Given the description of an element on the screen output the (x, y) to click on. 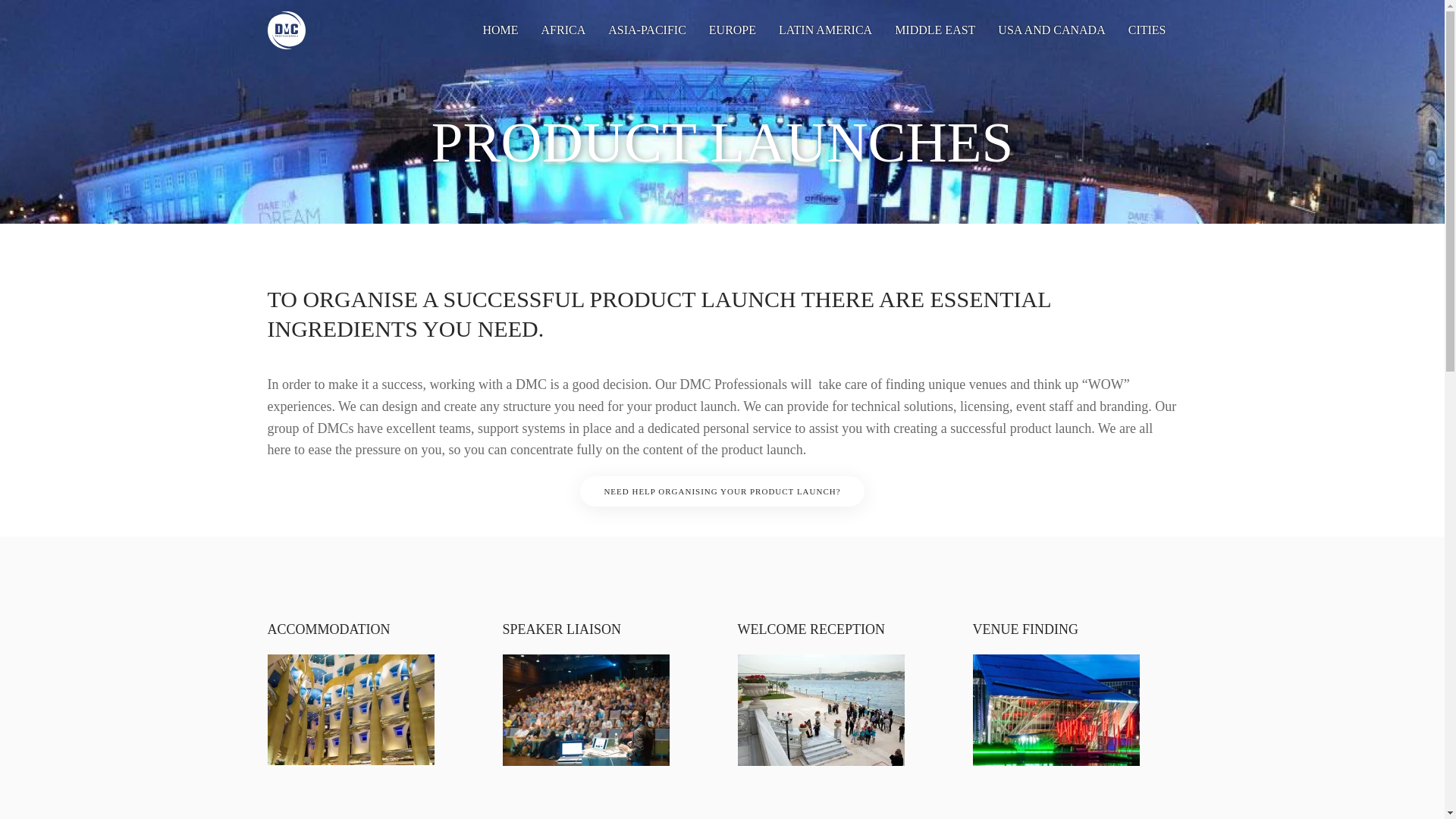
ASIA-PACIFIC (646, 30)
AFRICA (562, 30)
Need help organising your product launch? (721, 490)
HOME (499, 30)
